Given the description of an element on the screen output the (x, y) to click on. 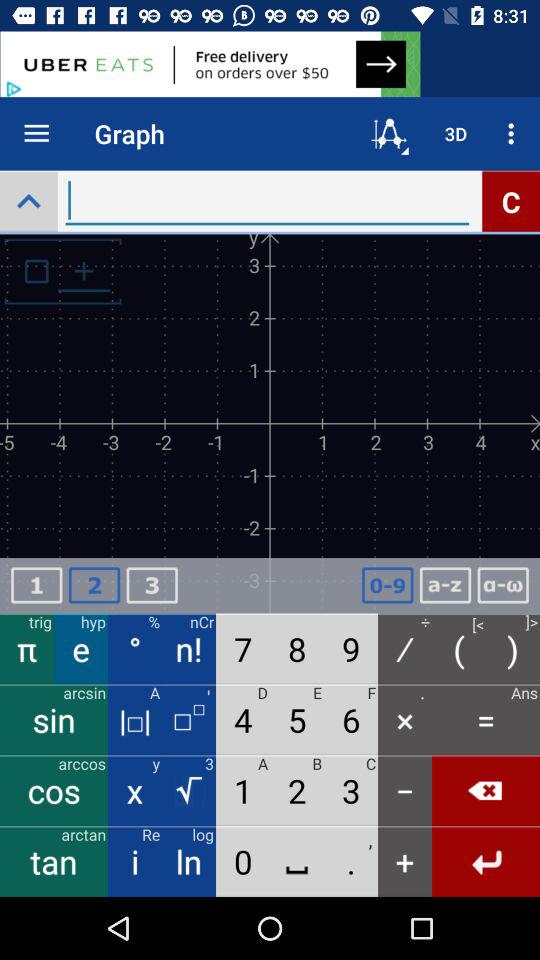
expand menu (28, 200)
